Given the description of an element on the screen output the (x, y) to click on. 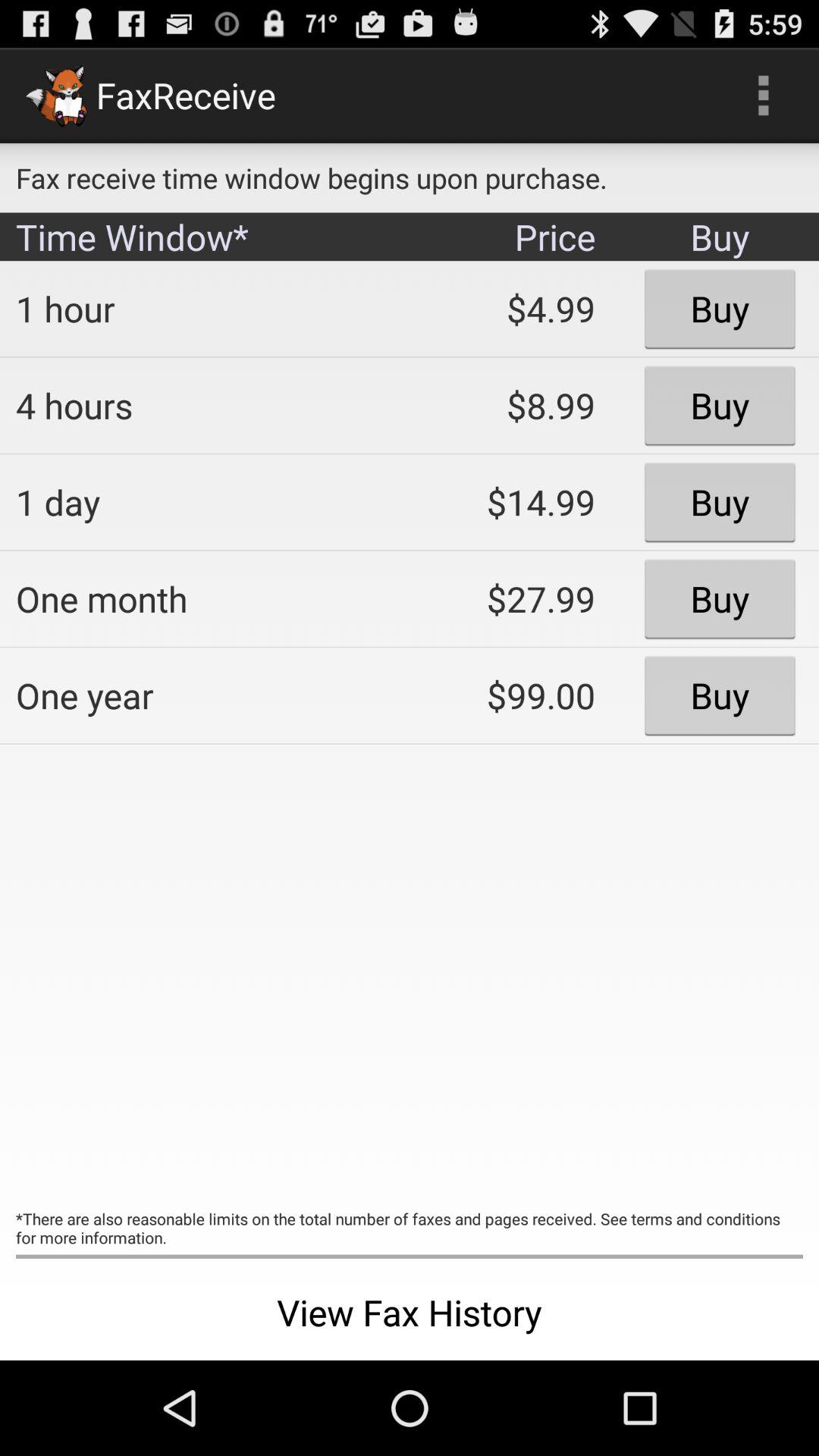
tap item next to price icon (201, 308)
